Given the description of an element on the screen output the (x, y) to click on. 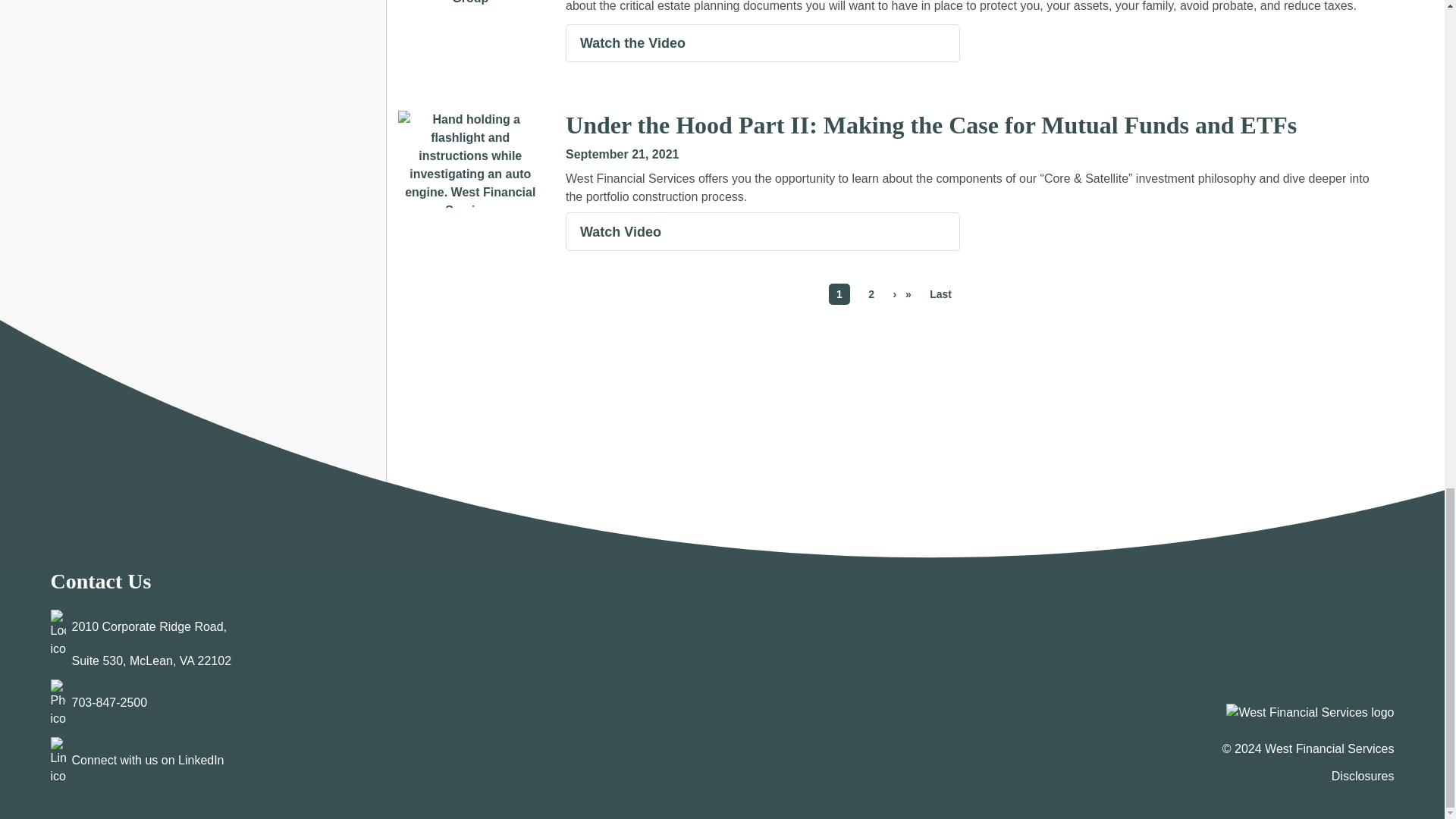
Go to page 2 (871, 293)
Current page (839, 293)
Go to last page (940, 293)
Go to next page (901, 293)
